Given the description of an element on the screen output the (x, y) to click on. 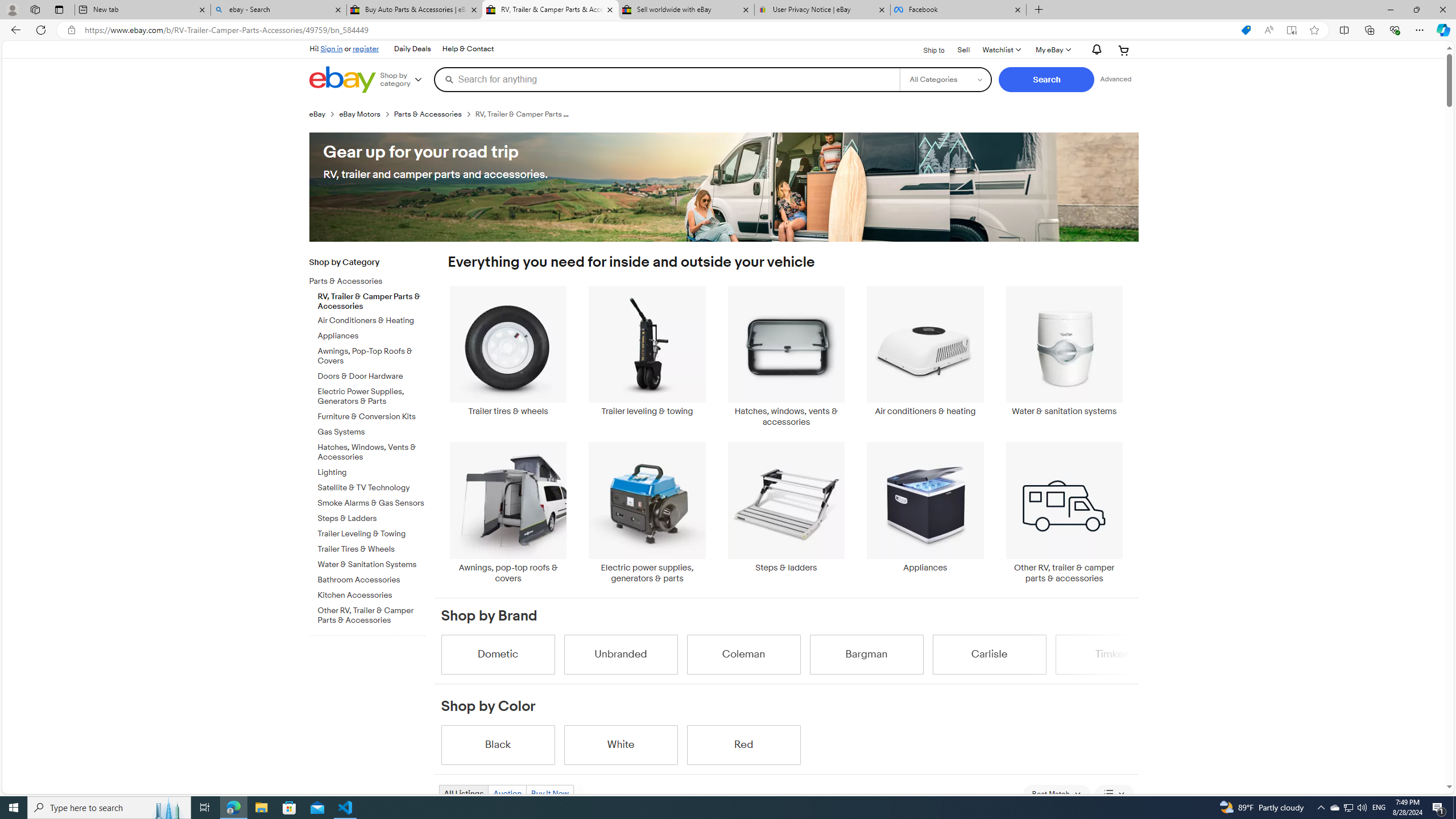
eBay Motors (359, 113)
Buy It Now (549, 793)
Bathroom Accessories (371, 577)
Red (742, 744)
Water & sanitation systems (1064, 356)
Sign in (331, 48)
Add this page to favorites (Ctrl+D) (1314, 29)
Hatches, windows, vents & accessories (786, 356)
My eBayExpand My eBay (1052, 49)
Appliances (925, 507)
eBay (317, 113)
eBay Home (341, 79)
Electric Power Supplies, Generators & Parts (371, 396)
Restore (1416, 9)
Workspaces (34, 9)
